Given the description of an element on the screen output the (x, y) to click on. 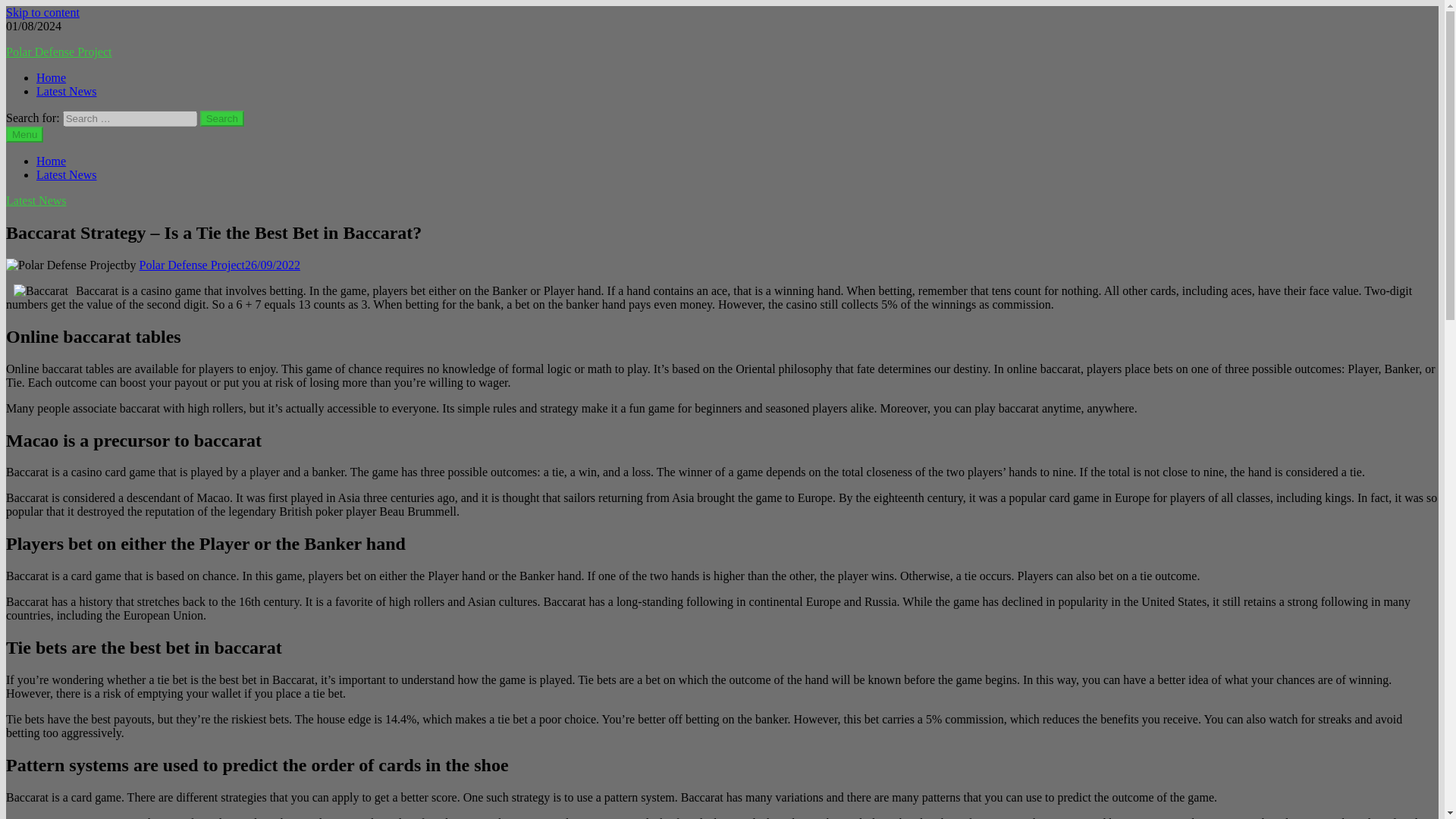
Search (222, 118)
Search (222, 118)
Latest News (35, 200)
Latest News (66, 91)
Search (222, 118)
Latest News (66, 174)
Polar Defense Project (192, 264)
Skip to content (42, 11)
Home (50, 160)
Home (50, 77)
Polar Defense Project (58, 51)
Menu (24, 134)
